Given the description of an element on the screen output the (x, y) to click on. 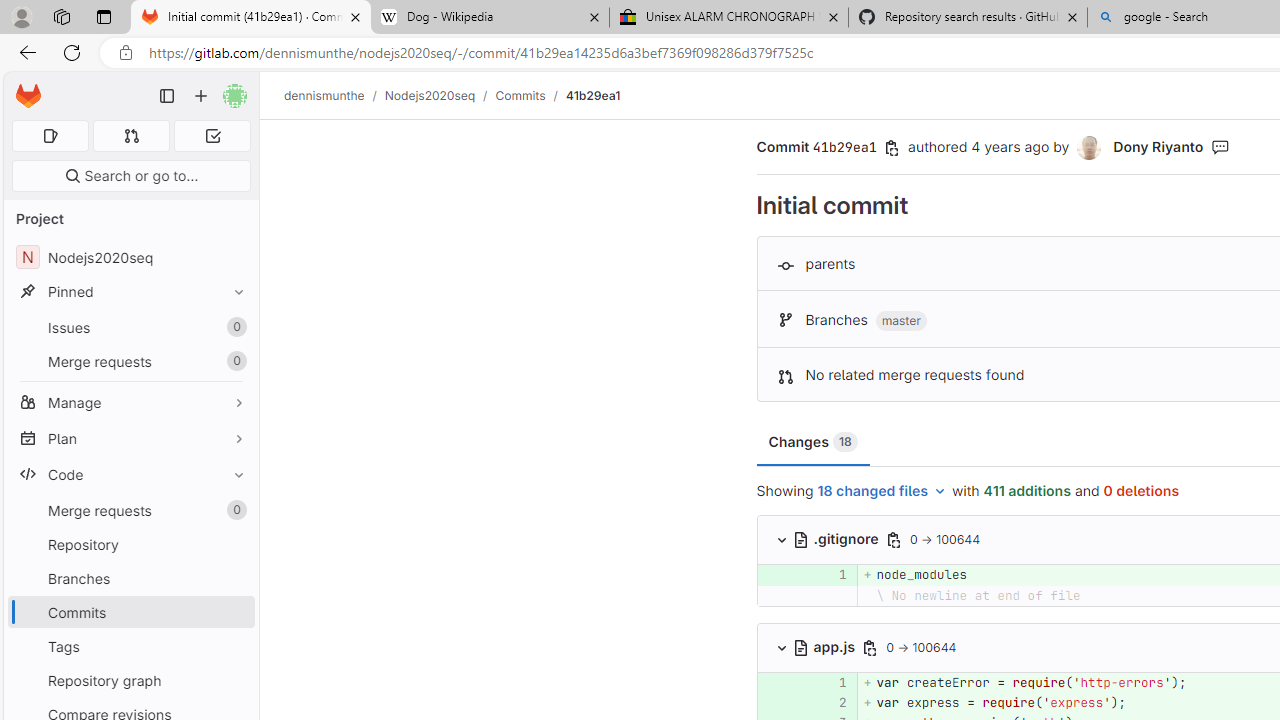
Unpin Issues (234, 327)
1 (829, 681)
41b29ea1 (592, 95)
Plan (130, 438)
master (900, 321)
N Nodejs2020seq (130, 257)
Copy commit SHA (892, 148)
Repository graph (130, 679)
Nodejs2020seq/ (440, 95)
Pinned (130, 291)
Branches (130, 578)
Create new... (201, 96)
Pin Branches (234, 578)
